Given the description of an element on the screen output the (x, y) to click on. 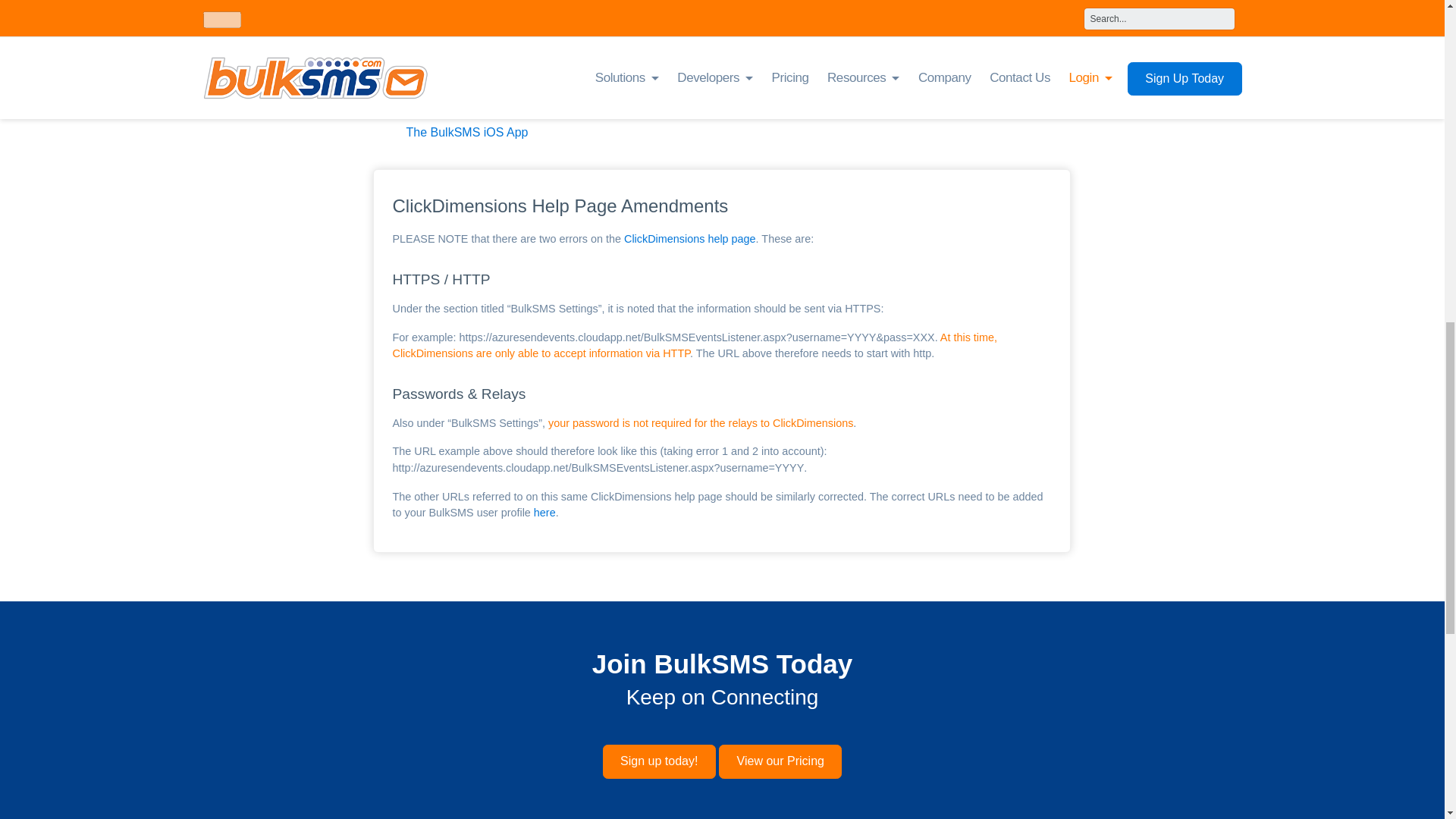
The BulkSMS Web to SMS platform (498, 108)
The BulkSMS iOS App (462, 132)
The BulkSMS Text Messenger for Windows and Apple Mac (560, 62)
JSON REST API (447, 85)
